Given the description of an element on the screen output the (x, y) to click on. 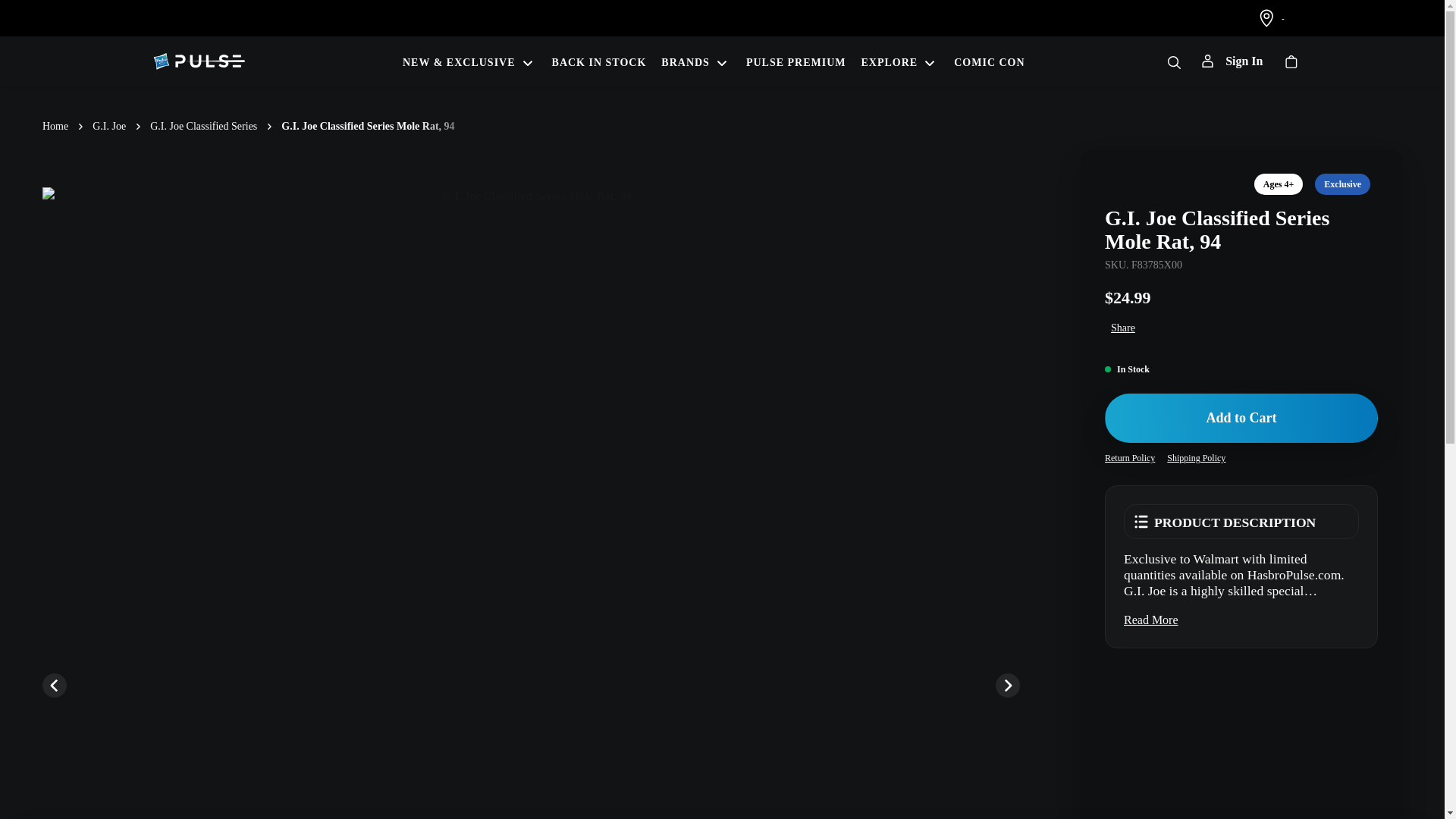
Home (55, 126)
PULSE PREMIUM (795, 60)
BRANDS (695, 60)
Sign In (1231, 60)
COMIC CON (988, 60)
EXPLORE (900, 60)
BACK IN STOCK (598, 60)
